Given the description of an element on the screen output the (x, y) to click on. 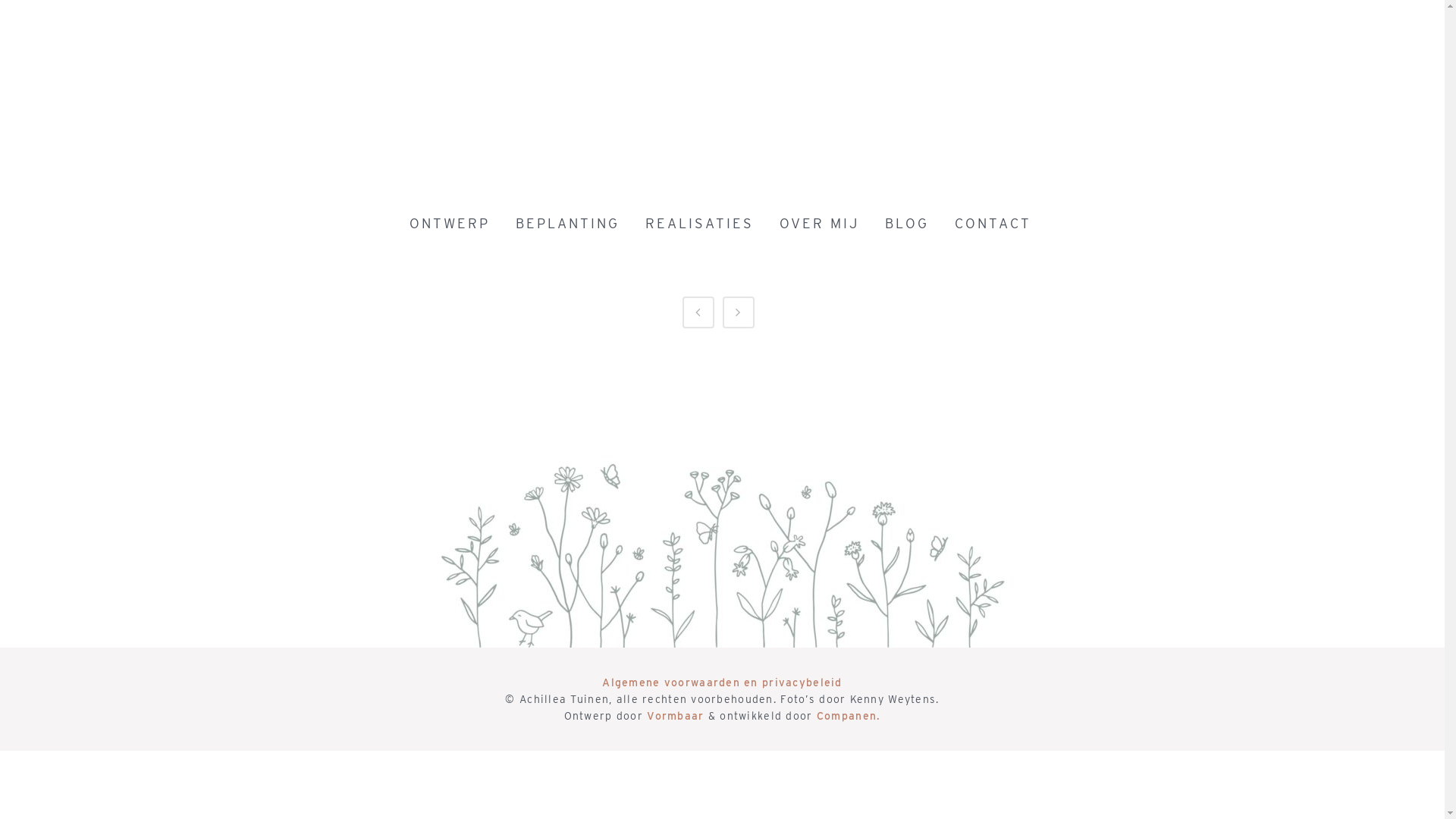
BLOG Element type: text (906, 223)
ONTWERP Element type: text (449, 223)
Algemene voorwaarden en privacybeleid Element type: text (721, 682)
Vormbaar Element type: text (674, 715)
REALISATIES Element type: text (699, 223)
Companen. Element type: text (848, 715)
OVER MIJ Element type: text (819, 223)
CONTACT Element type: text (992, 223)
BEPLANTING Element type: text (567, 223)
